Given the description of an element on the screen output the (x, y) to click on. 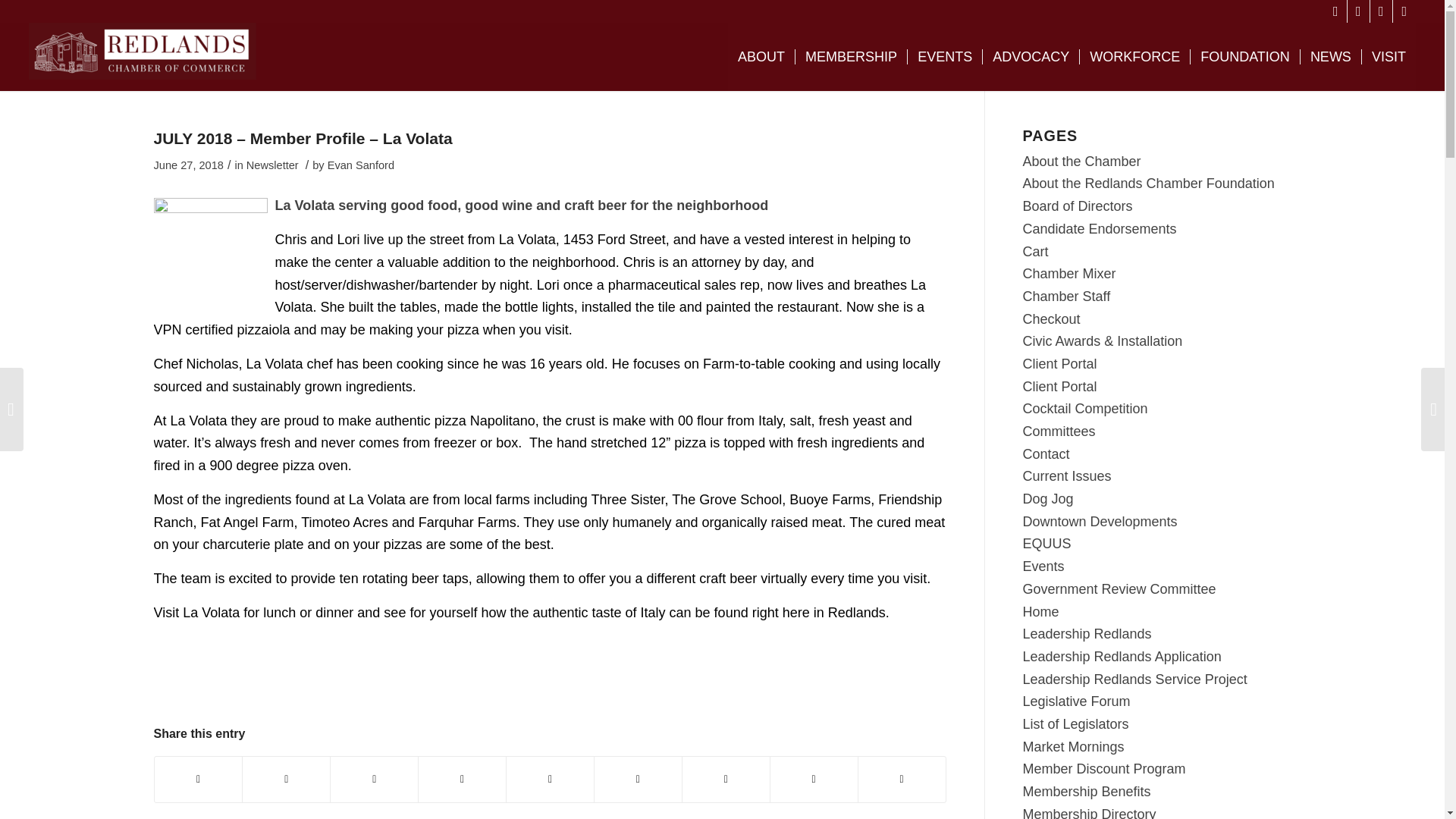
MEMBERSHIP (850, 56)
Instagram (1380, 11)
ADVOCACY (1029, 56)
ABOUT (761, 56)
Twitter (1359, 11)
Facebook (1335, 11)
LinkedIn (1404, 11)
Posts by Evan Sanford (360, 164)
WORKFORCE (1133, 56)
EVENTS (944, 56)
